Given the description of an element on the screen output the (x, y) to click on. 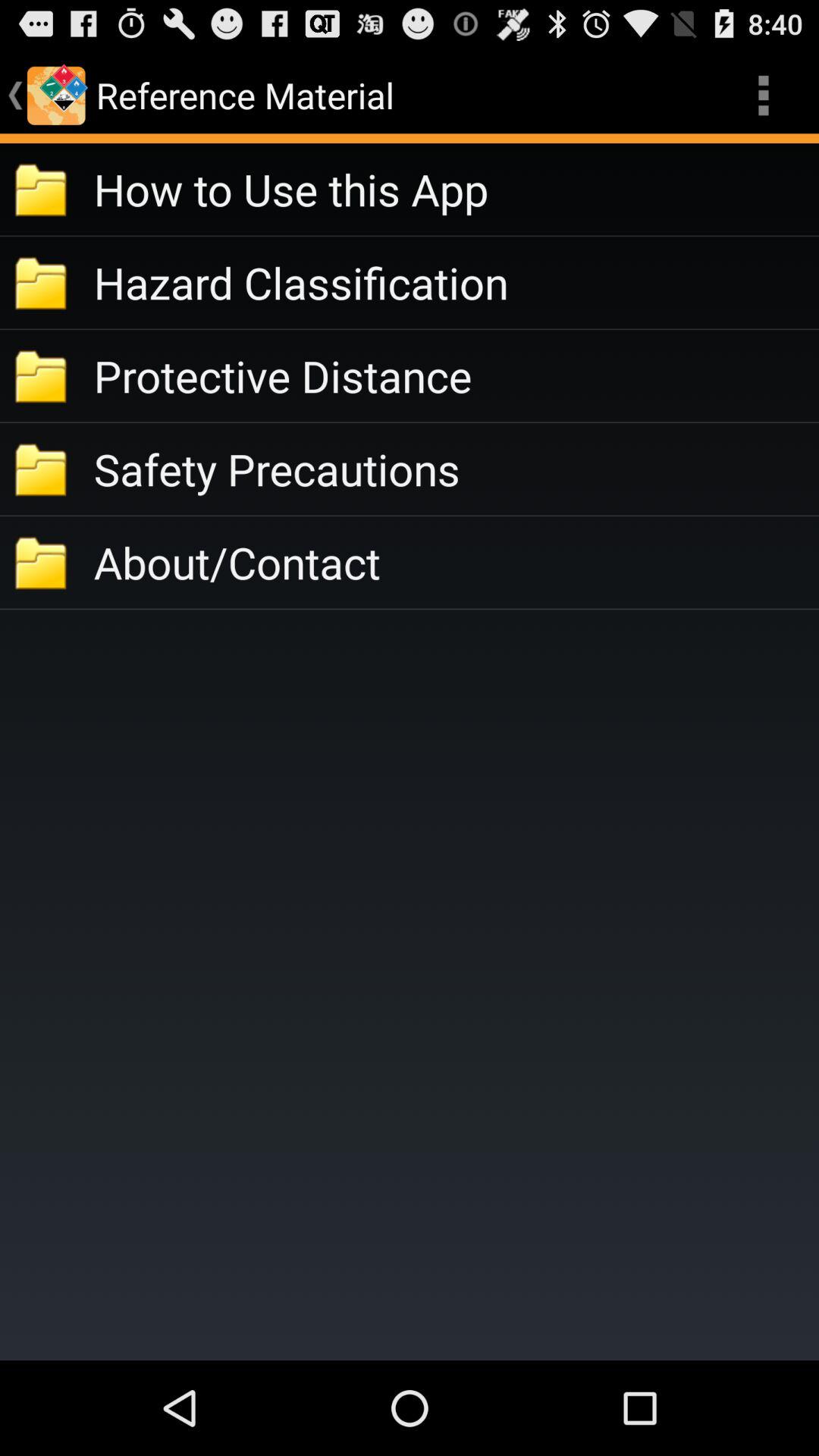
jump to the hazard classification (456, 282)
